Given the description of an element on the screen output the (x, y) to click on. 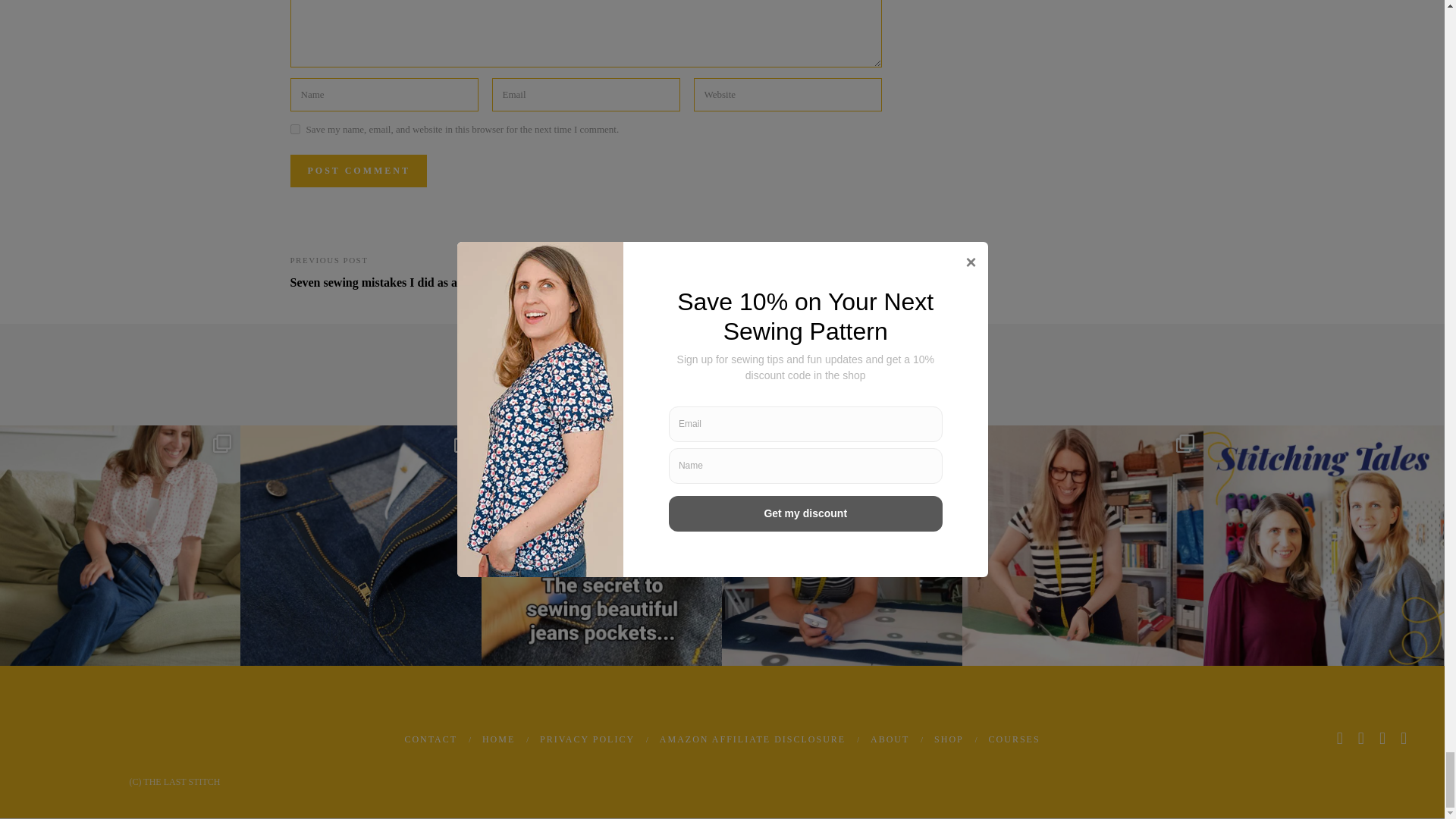
Post Comment (357, 170)
yes (294, 129)
